Given the description of an element on the screen output the (x, y) to click on. 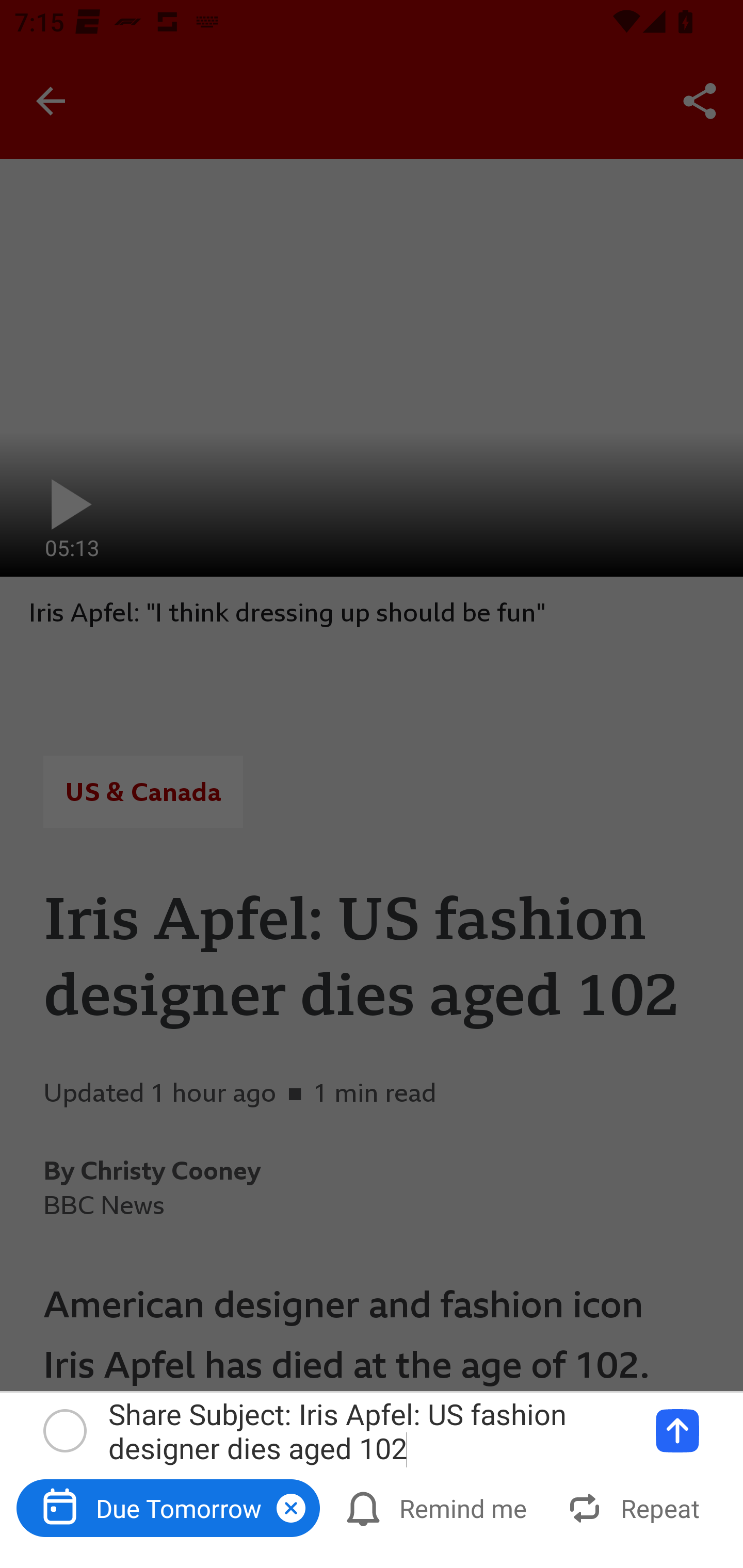
Add a task (676, 1430)
Due Tomorrow Remove due date (168, 1507)
Remind me (437, 1507)
Repeat (634, 1507)
Remove due date (290, 1508)
